Given the description of an element on the screen output the (x, y) to click on. 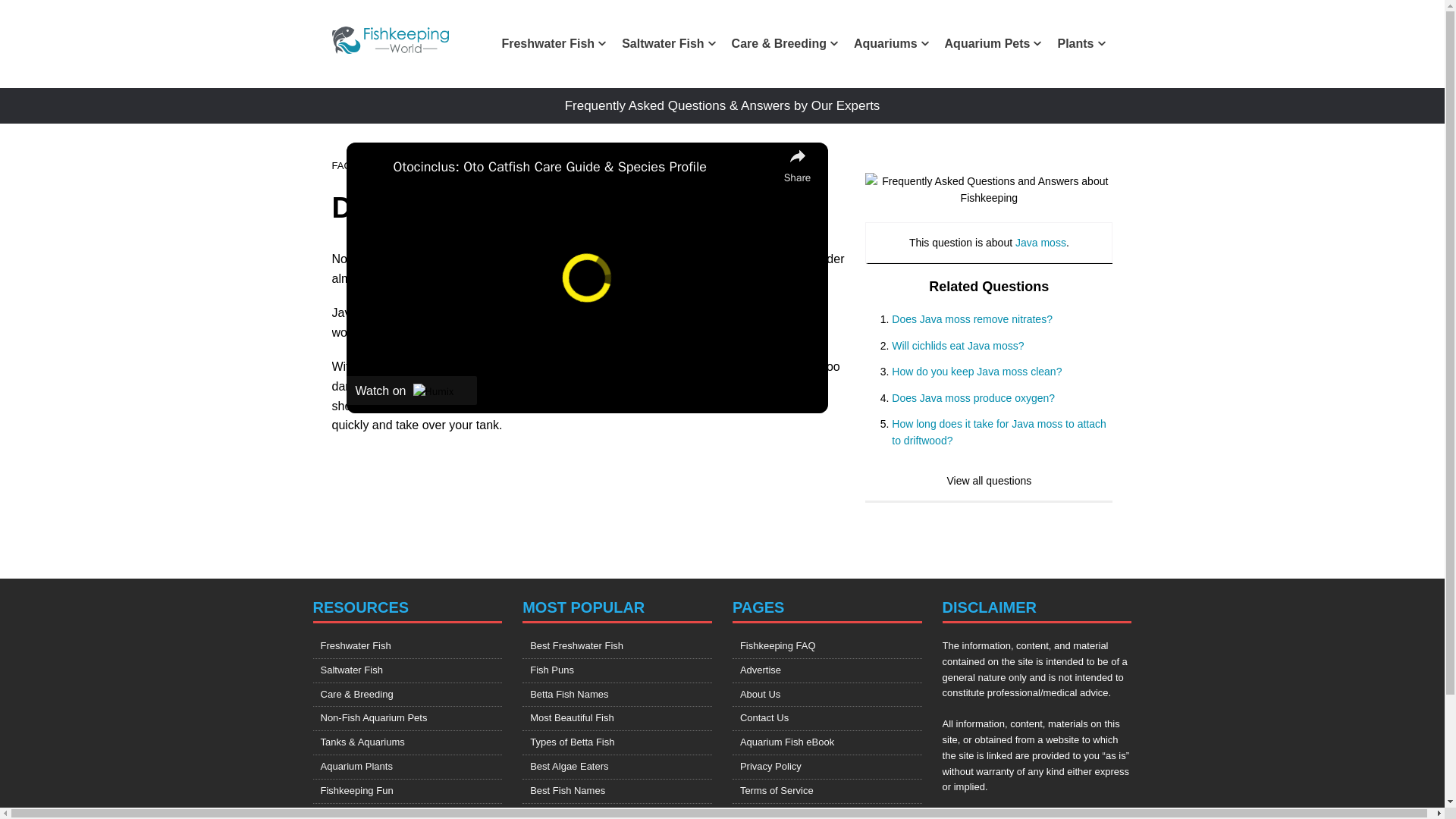
Saltwater Fish (667, 44)
Freshwater Fish (552, 44)
Aquariums (890, 44)
